Given the description of an element on the screen output the (x, y) to click on. 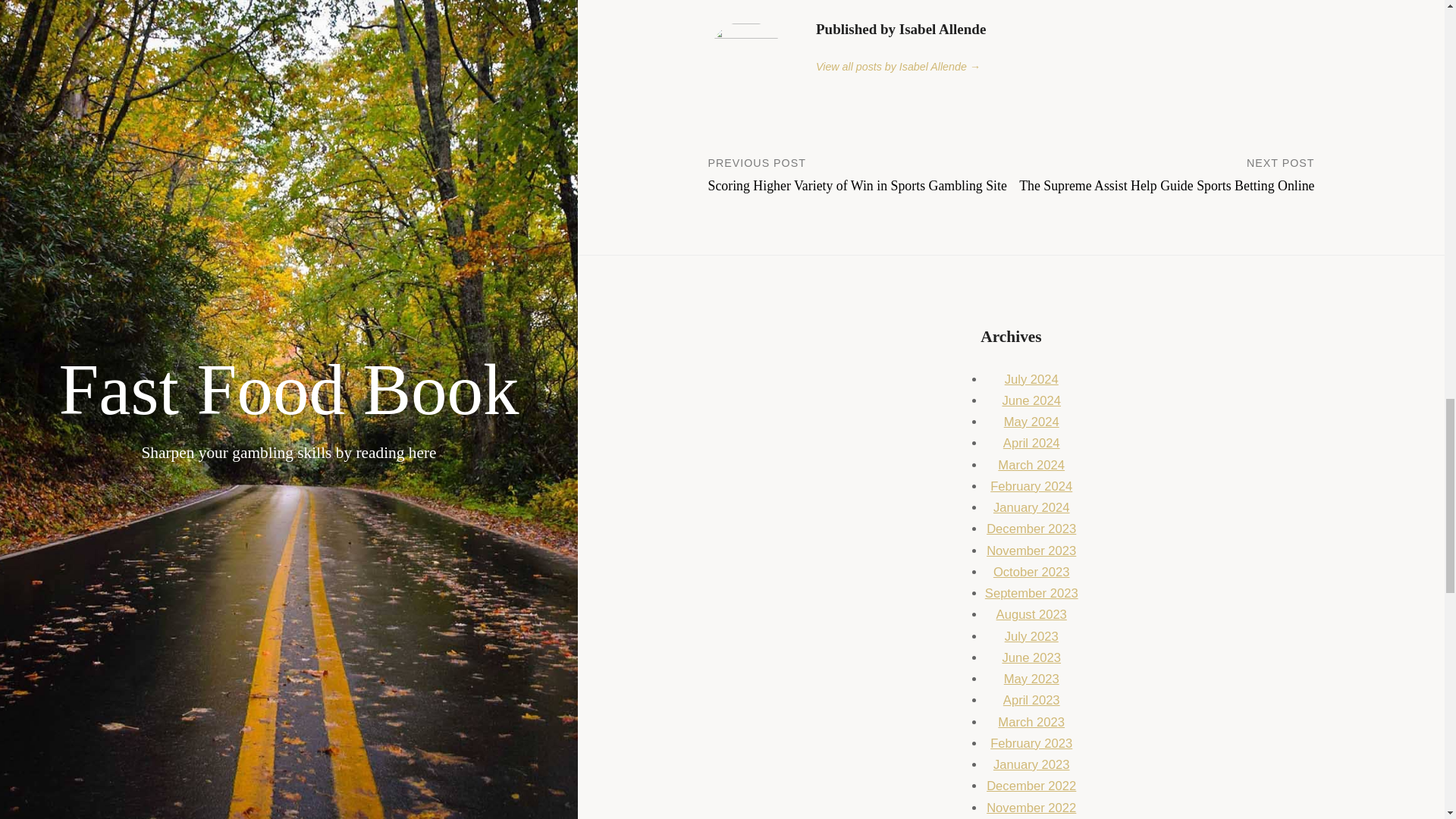
April 2024 (1031, 442)
August 2023 (1031, 614)
July 2024 (1031, 379)
November 2023 (1031, 550)
March 2024 (1030, 464)
June 2023 (1031, 657)
December 2022 (1031, 785)
February 2024 (1030, 486)
April 2023 (1031, 699)
March 2023 (1030, 721)
July 2023 (1031, 636)
May 2024 (1031, 421)
November 2022 (1031, 807)
September 2023 (1031, 593)
